Given the description of an element on the screen output the (x, y) to click on. 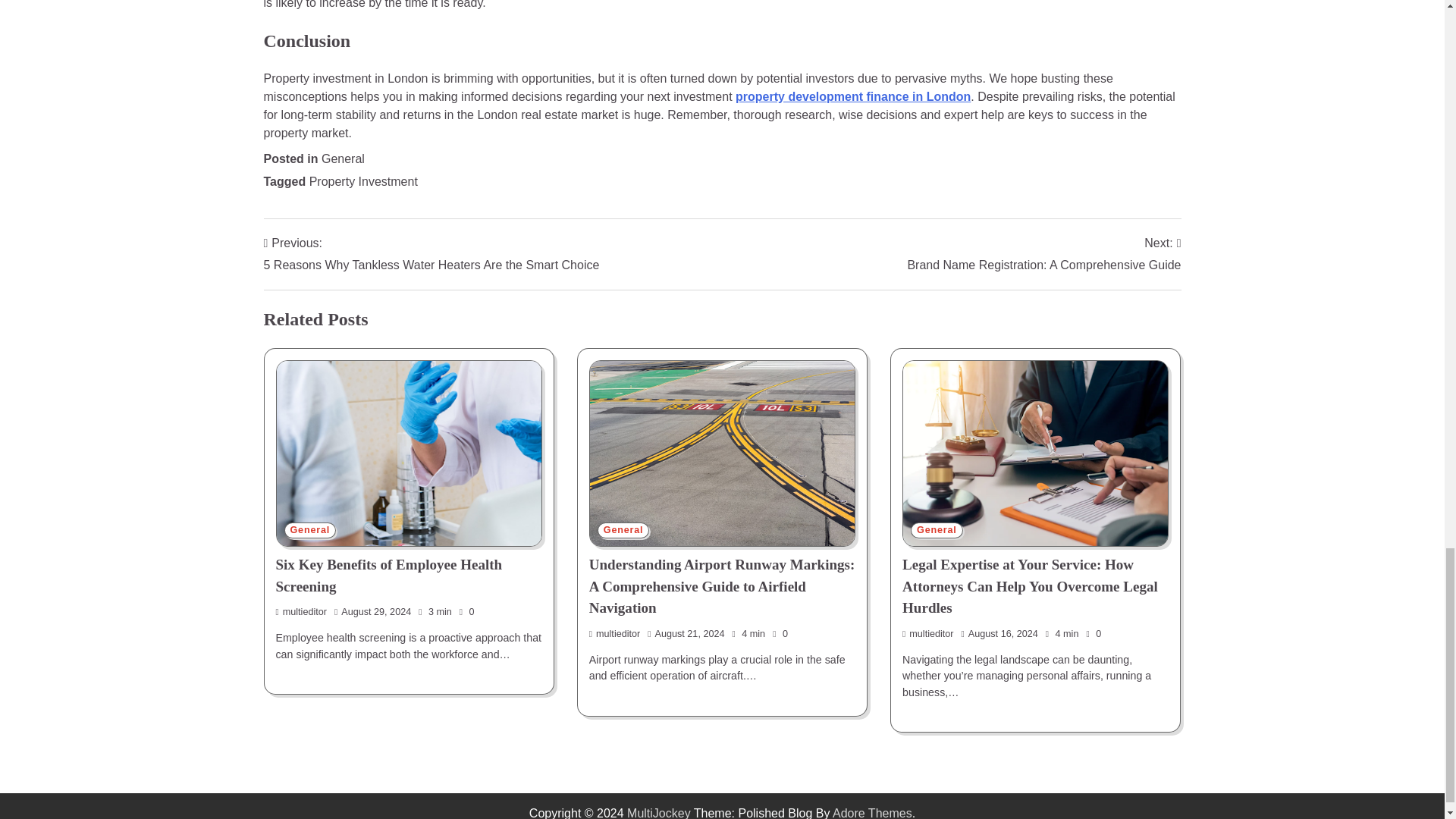
Six Key Benefits of Employee Health Screening (389, 575)
Property Investment (1043, 254)
multieditor (362, 181)
General (301, 611)
General (343, 158)
multieditor (936, 530)
property development finance in London (614, 633)
